Given the description of an element on the screen output the (x, y) to click on. 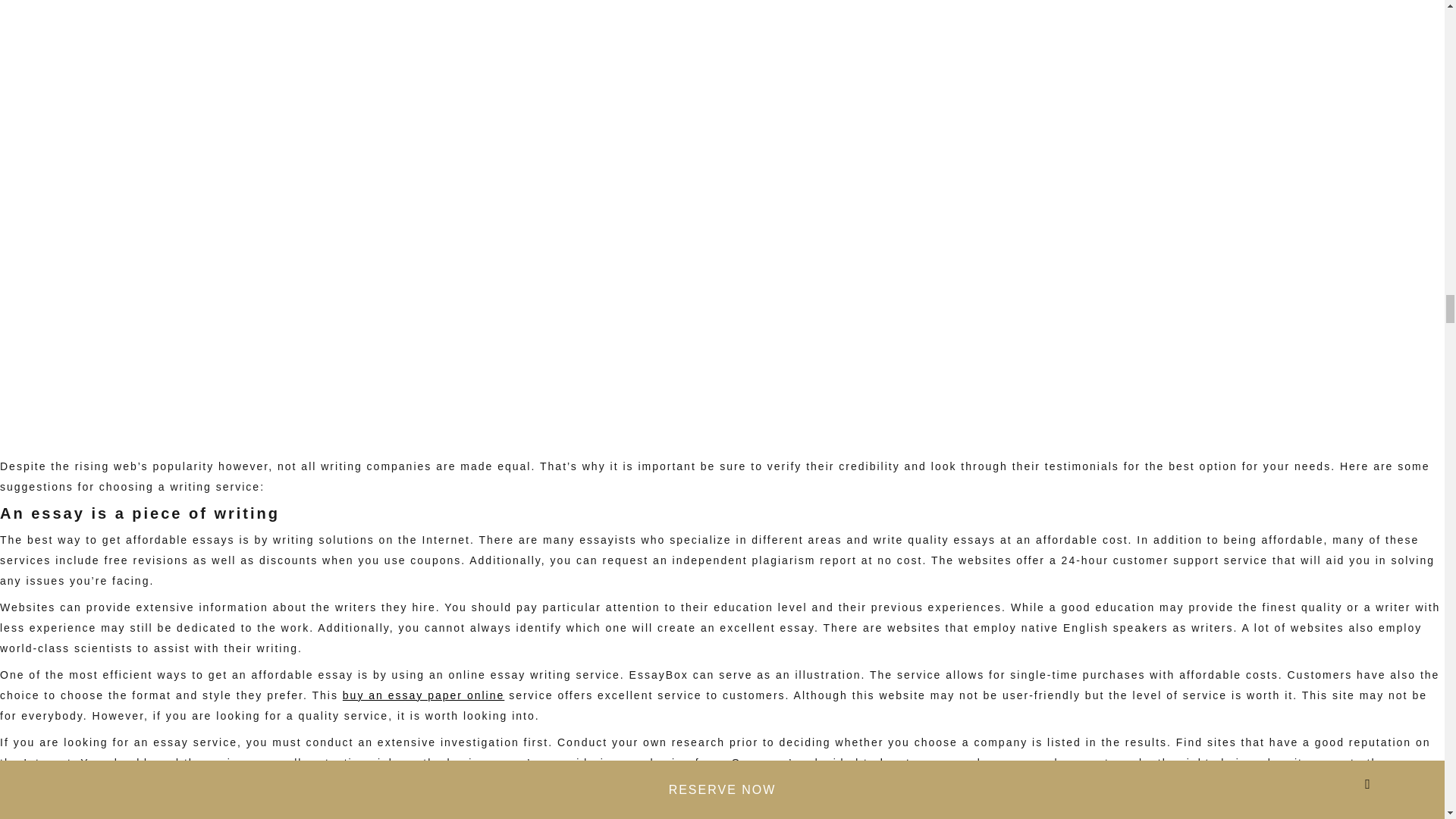
buy term paper (926, 762)
buy an essay paper online (422, 695)
